Given the description of an element on the screen output the (x, y) to click on. 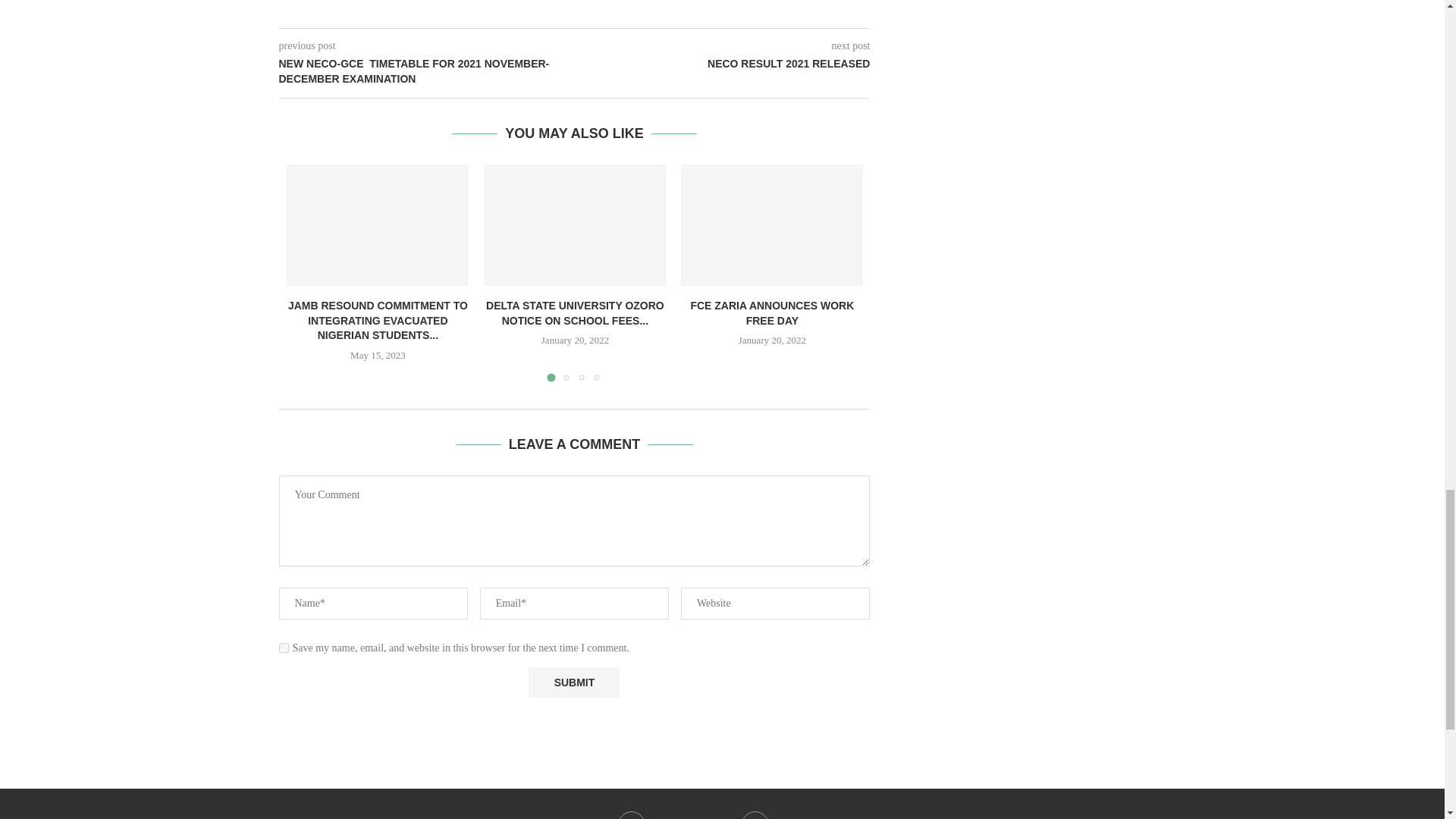
FCE Zaria announces work free day (772, 224)
Delta State University Ozoro notice on school fees payment (574, 224)
NECO RESULT 2021 RELEASED (722, 64)
Submit (574, 682)
yes (283, 647)
